Given the description of an element on the screen output the (x, y) to click on. 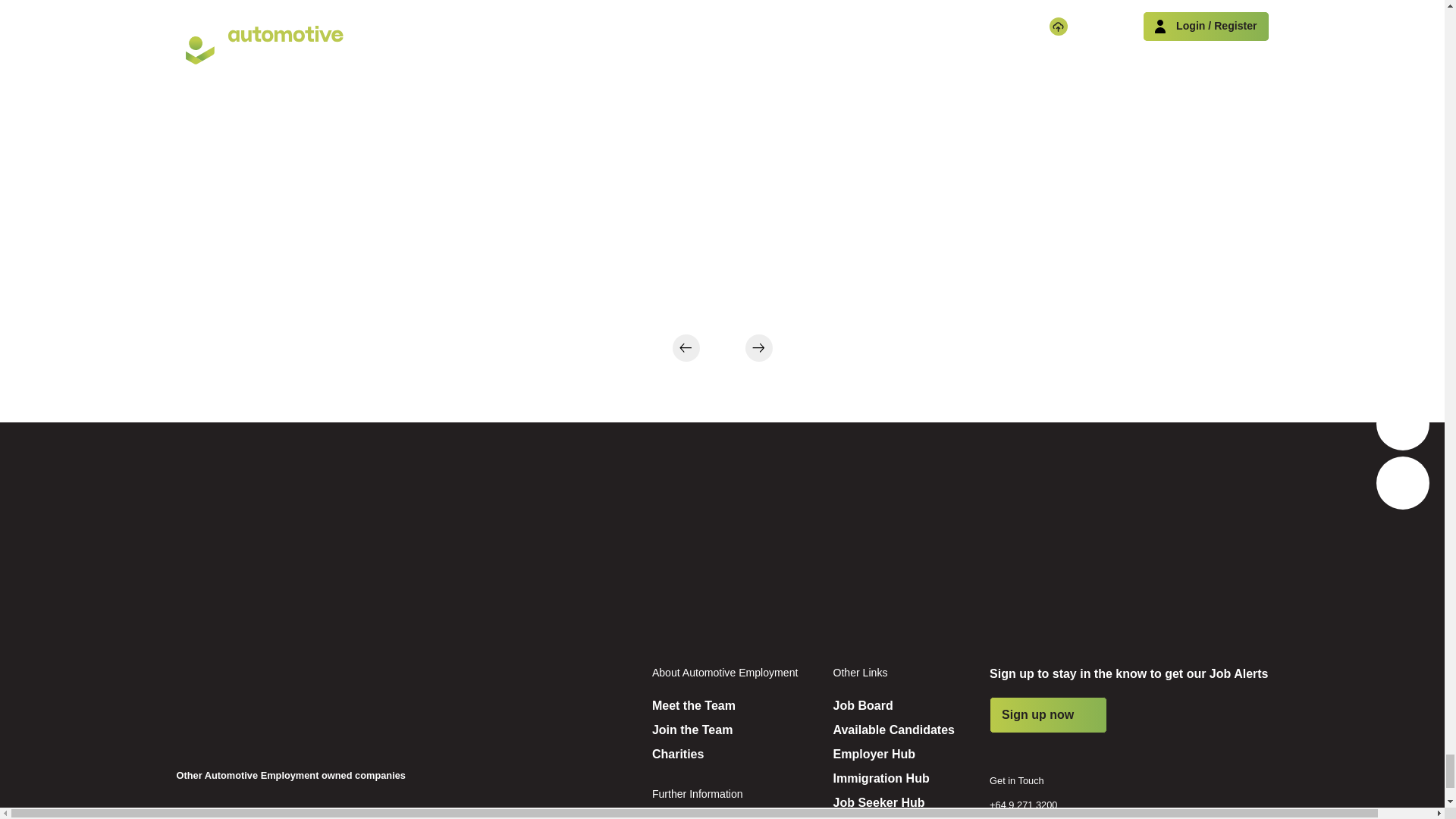
Go to the Homepage (270, 704)
